Given the description of an element on the screen output the (x, y) to click on. 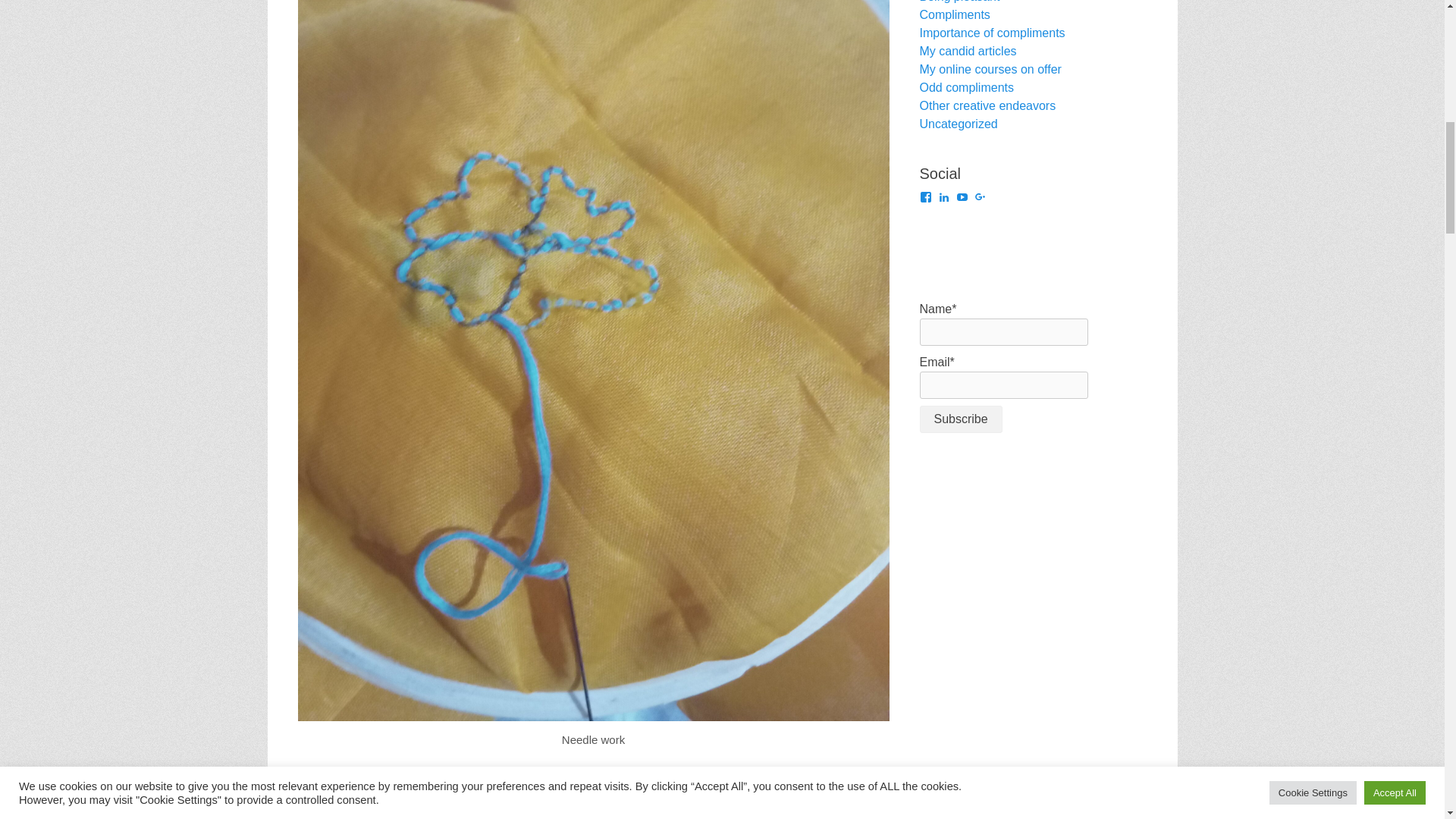
Subscribe (959, 419)
